Given the description of an element on the screen output the (x, y) to click on. 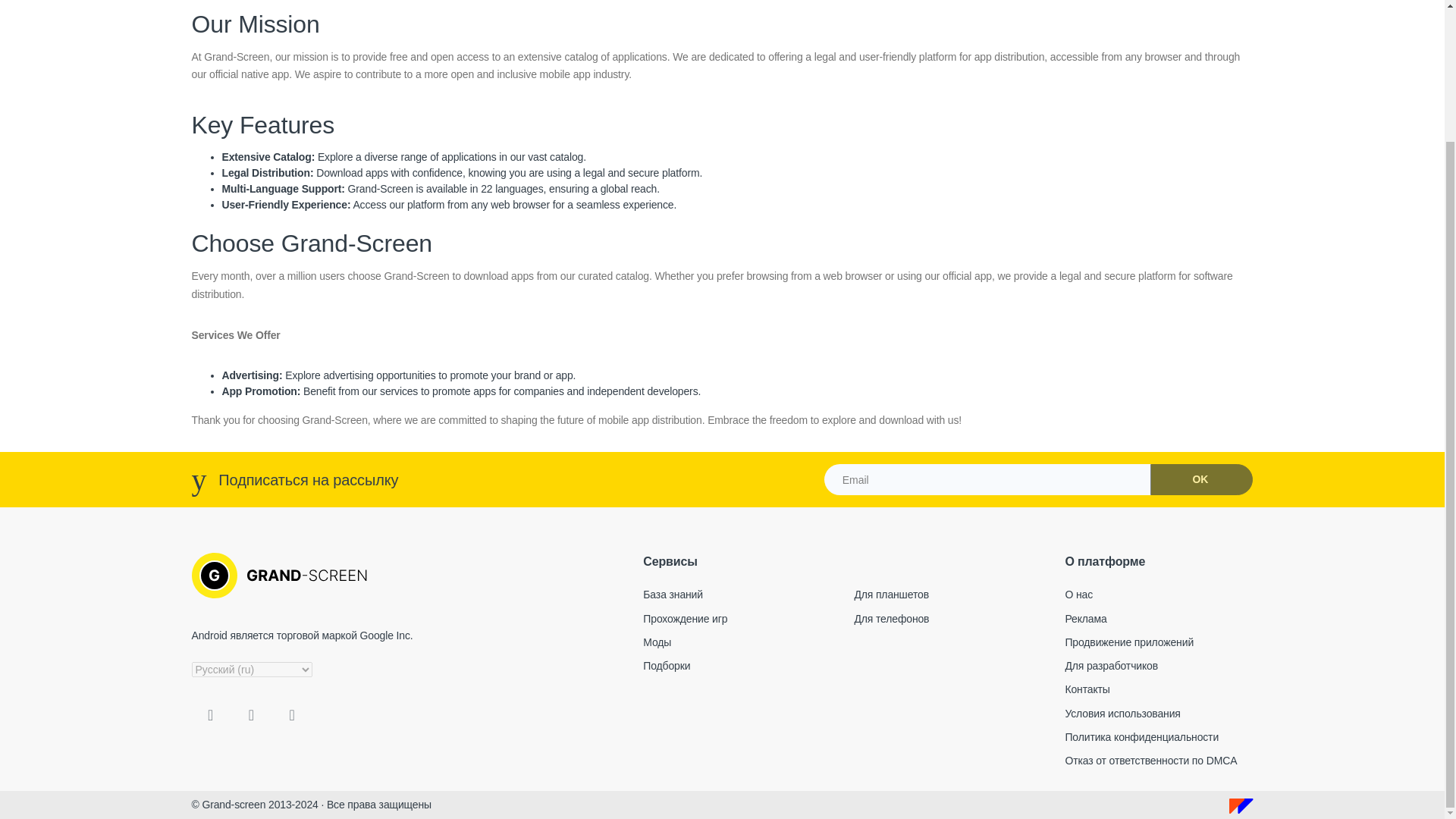
Made by Traffic (1240, 804)
